Given the description of an element on the screen output the (x, y) to click on. 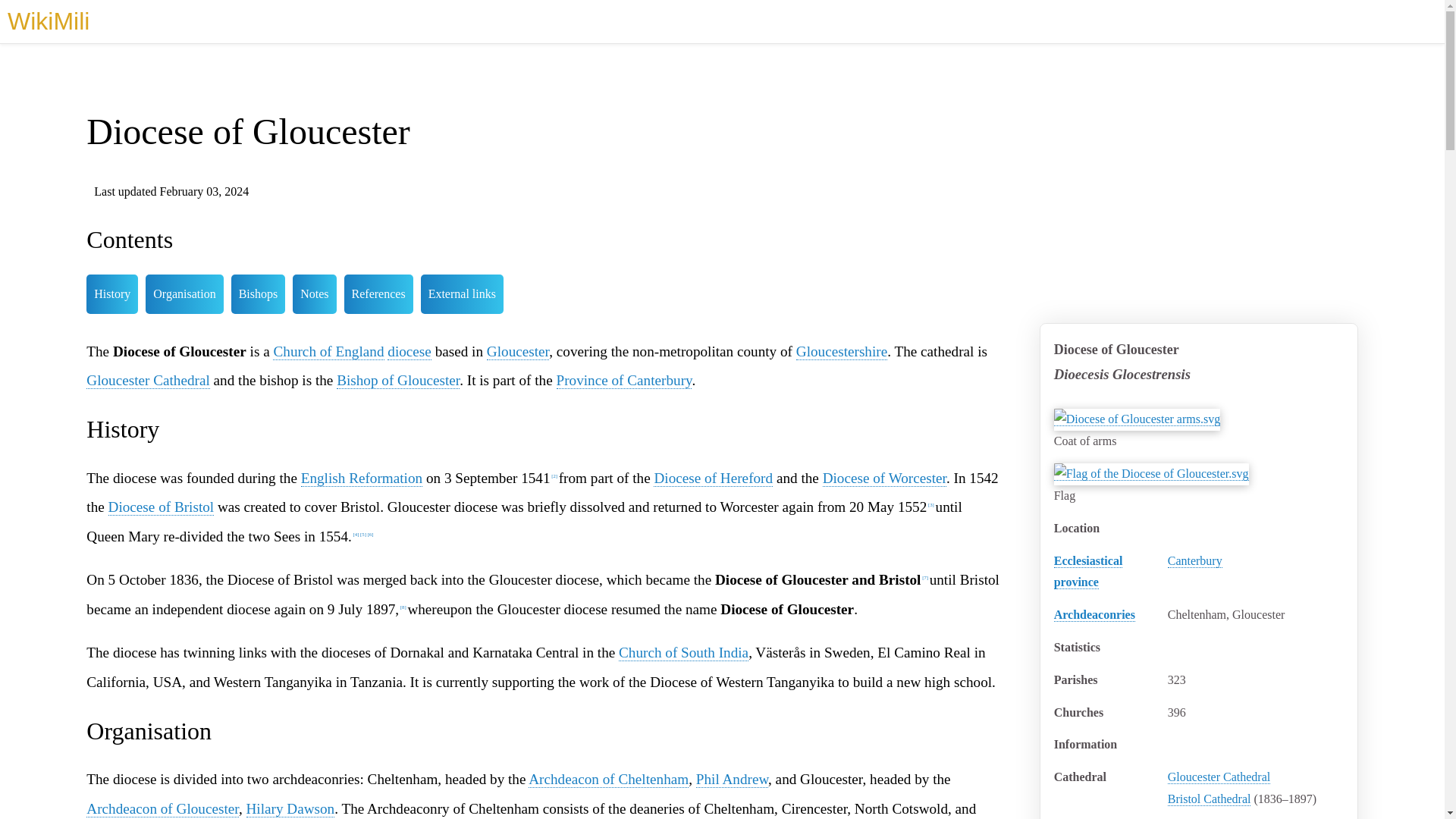
Bishops (258, 293)
Diocese of Bristol (160, 506)
Canterbury (1195, 561)
Bishop of Gloucester (398, 380)
WikiMili (47, 21)
Gloucester Cathedral (1219, 776)
Gloucester (517, 351)
Notes (314, 293)
Church of England (328, 351)
Ecclesiastical province (1088, 571)
